Given the description of an element on the screen output the (x, y) to click on. 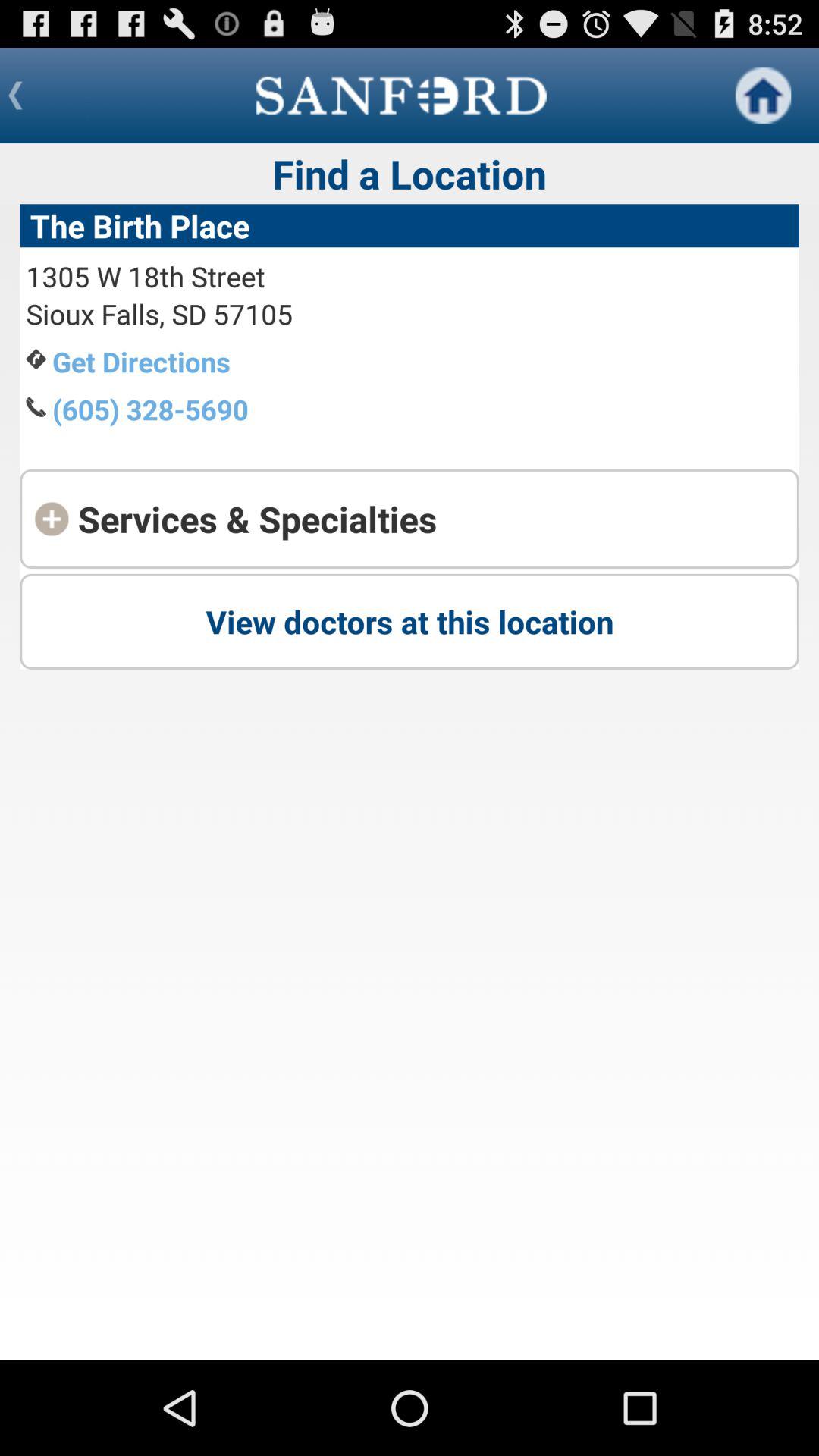
flip to the (605) 328-5690 app (150, 409)
